Given the description of an element on the screen output the (x, y) to click on. 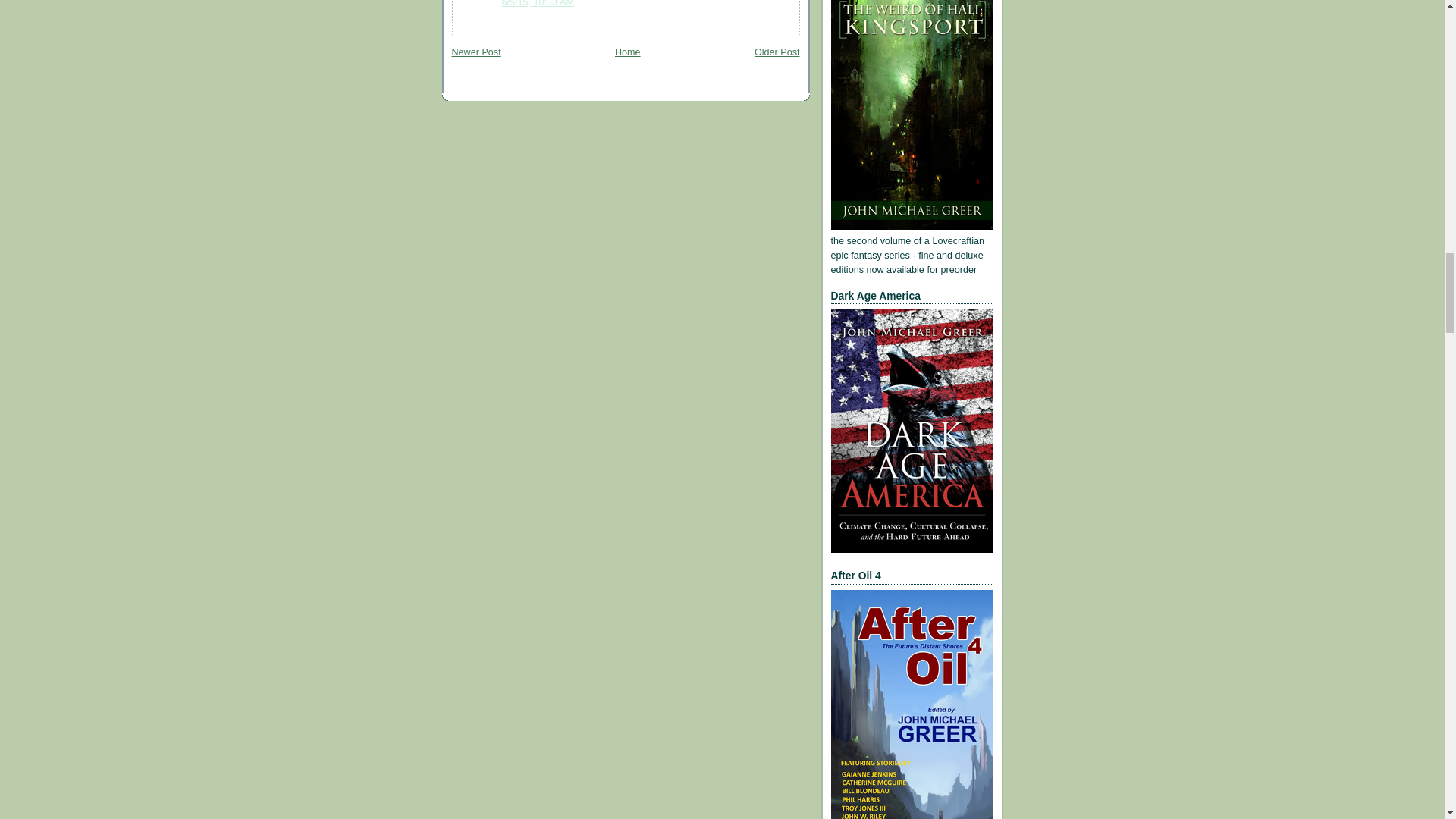
comment permalink (537, 3)
Newer Post (475, 51)
Older Post (776, 51)
Newer Post (475, 51)
Home (627, 51)
Older Post (776, 51)
